Given the description of an element on the screen output the (x, y) to click on. 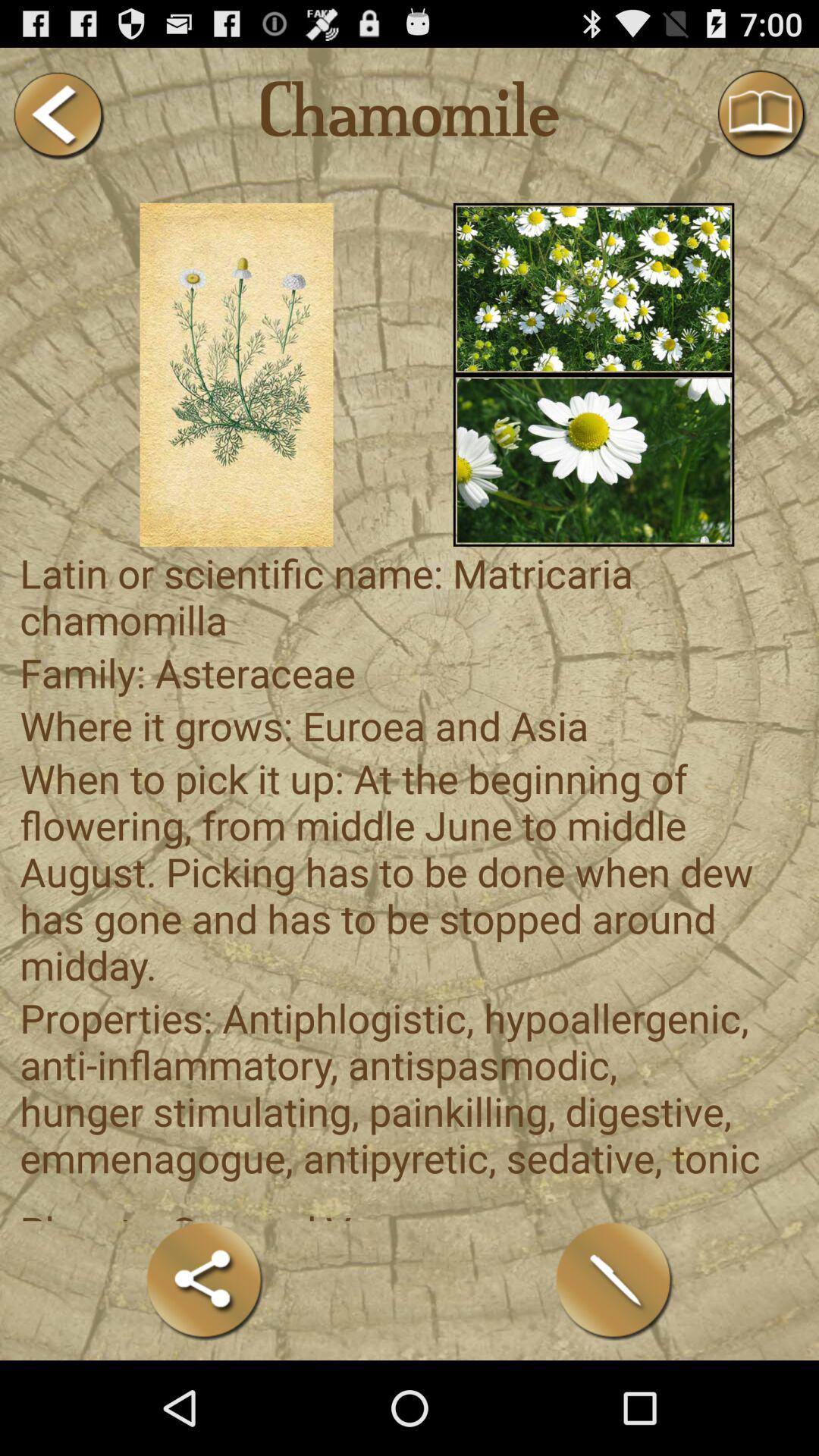
go to previous (57, 115)
